Given the description of an element on the screen output the (x, y) to click on. 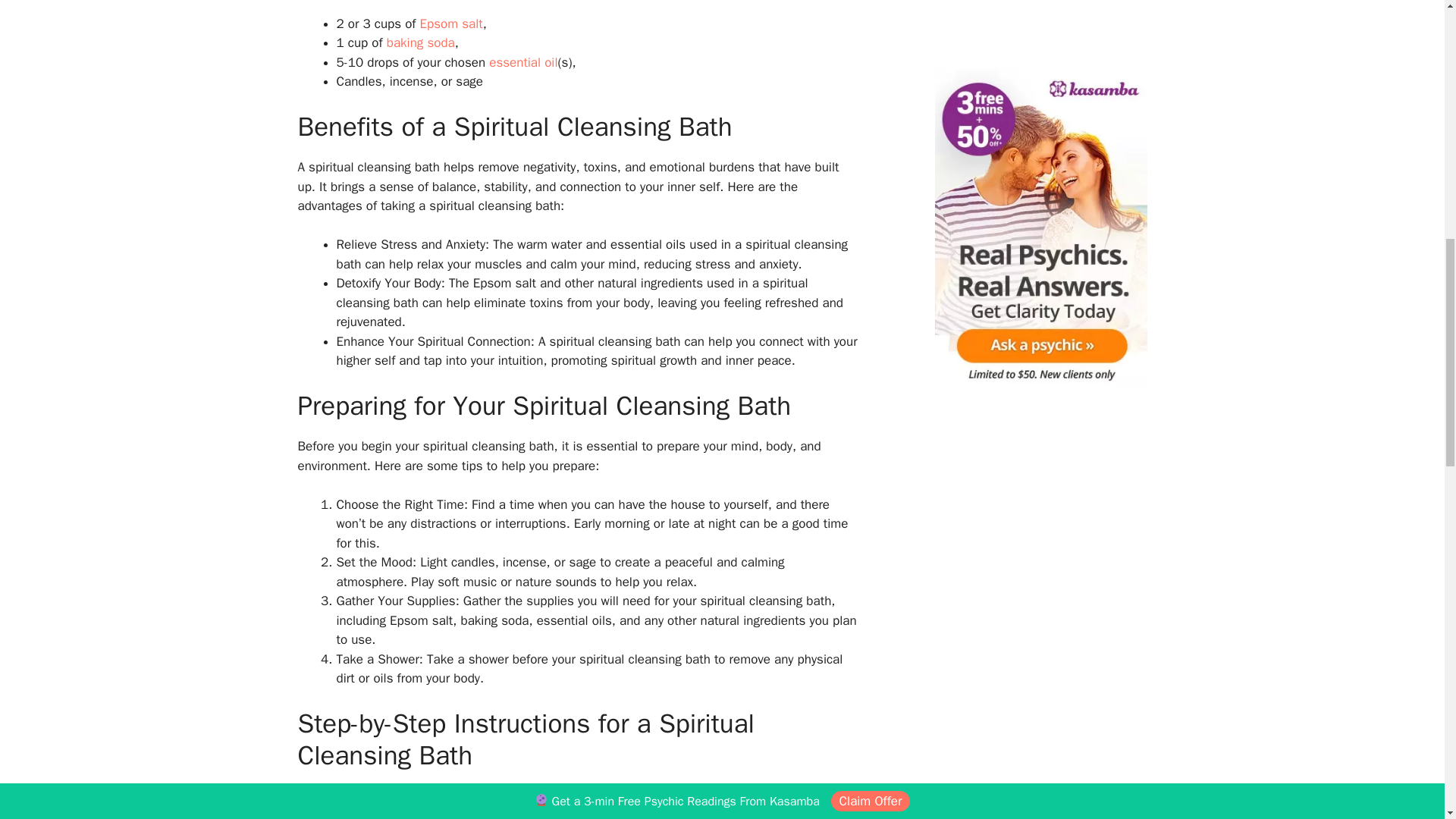
Scroll back to top (1406, 666)
baking soda (420, 42)
Epsom salt (451, 23)
essential oil (523, 62)
